Given the description of an element on the screen output the (x, y) to click on. 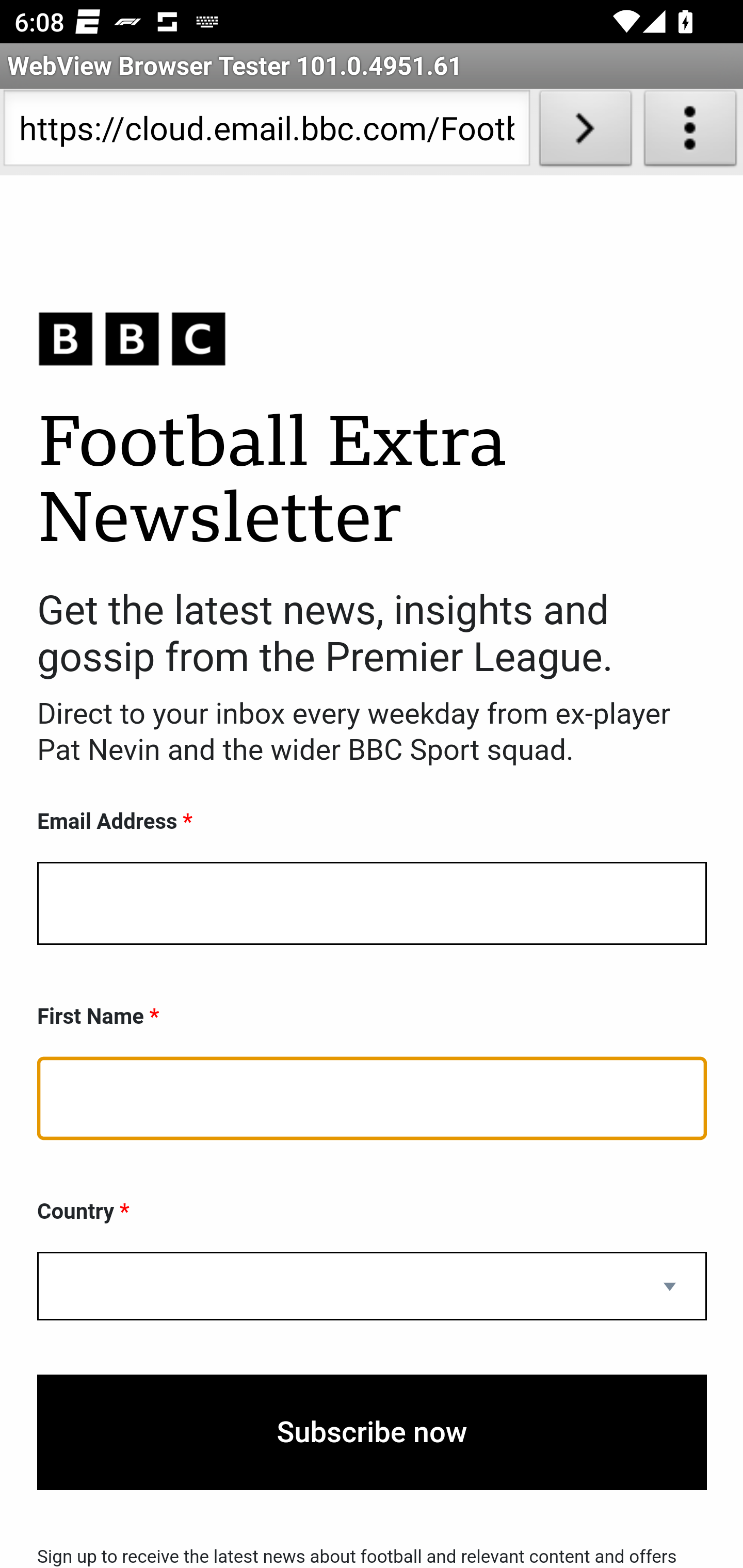
Load URL (585, 132)
About WebView (690, 132)
BBC (372, 338)
Subscribe now (372, 1432)
